Given the description of an element on the screen output the (x, y) to click on. 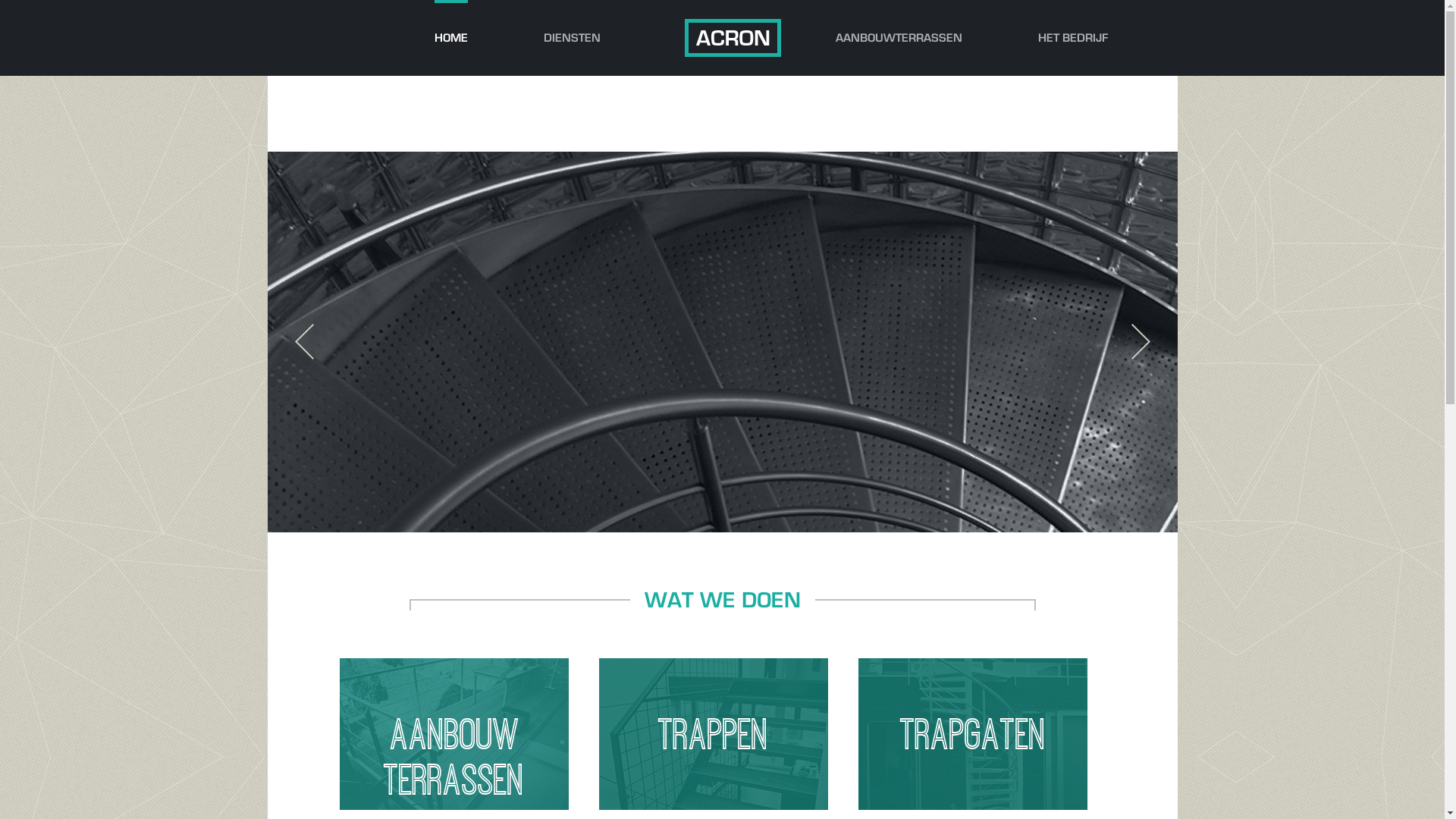
Trappen Element type: text (713, 733)
Trapgaten Element type: text (972, 733)
HOME Element type: text (450, 37)
HET BEDRIJF Element type: text (1072, 37)
CONTACT Element type: text (459, 113)
DIENSTEN Element type: text (571, 37)
AANBOUWTERRASSEN Element type: text (898, 37)
Aanbouw Terrassen Element type: text (453, 733)
